Given the description of an element on the screen output the (x, y) to click on. 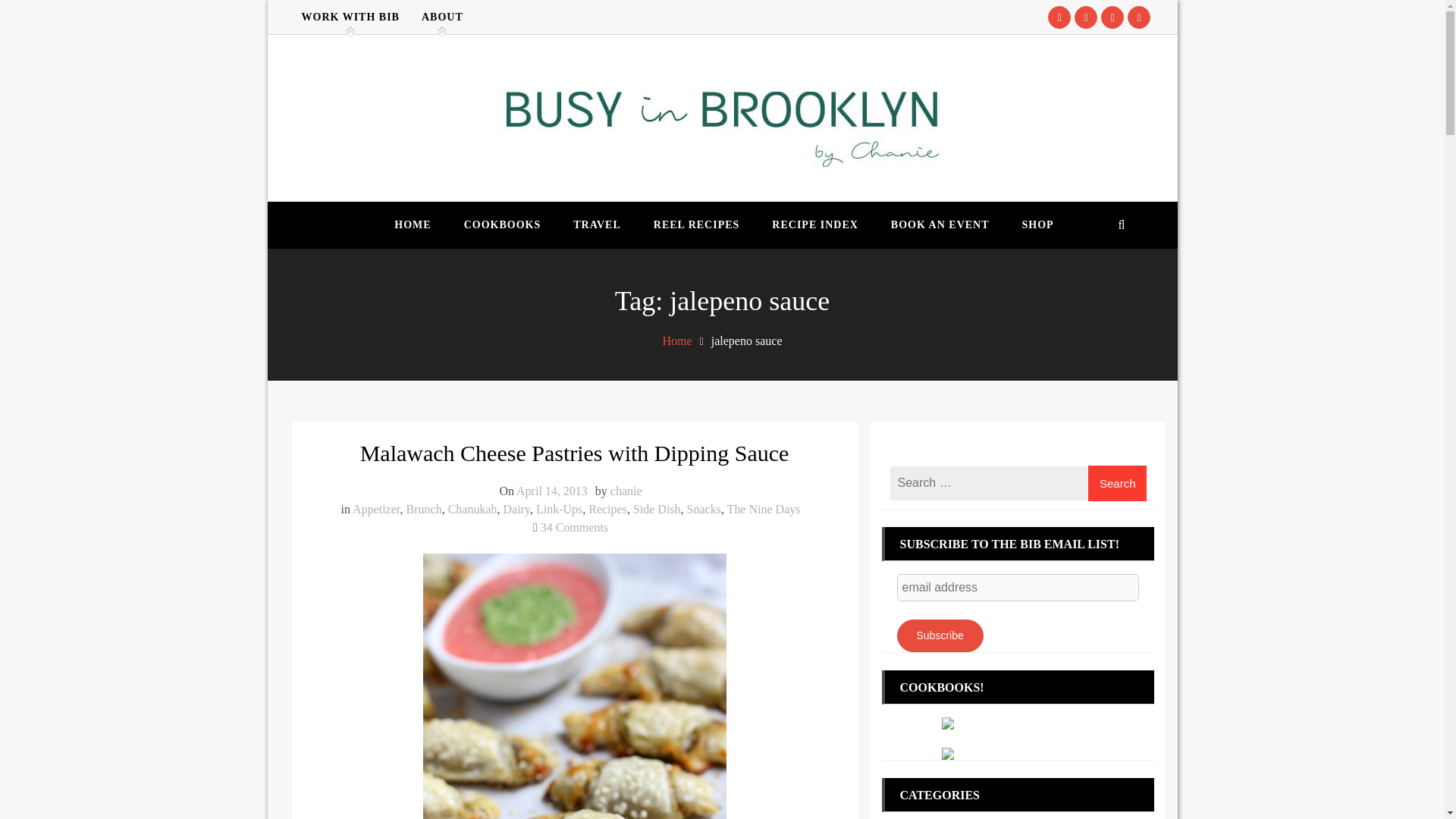
Dairy (516, 508)
RECIPE INDEX (814, 225)
Link-Ups (558, 508)
Chanukah (472, 508)
COOKBOOKS (574, 526)
WORK WITH BIB (502, 225)
The Nine Days (350, 17)
REEL RECIPES (763, 508)
Home (696, 225)
